Given the description of an element on the screen output the (x, y) to click on. 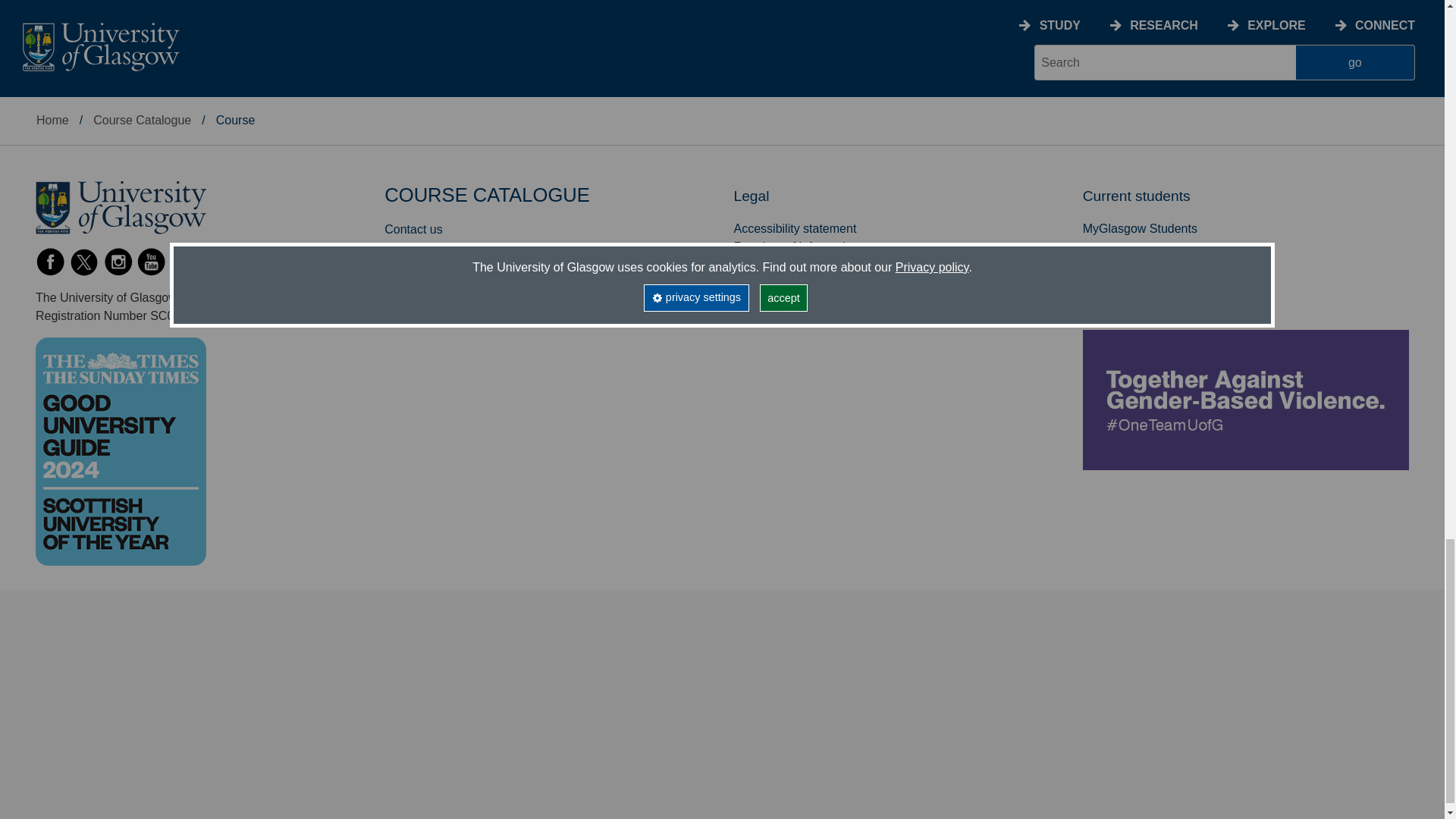
International students (92, 4)
Student life (65, 19)
